Given the description of an element on the screen output the (x, y) to click on. 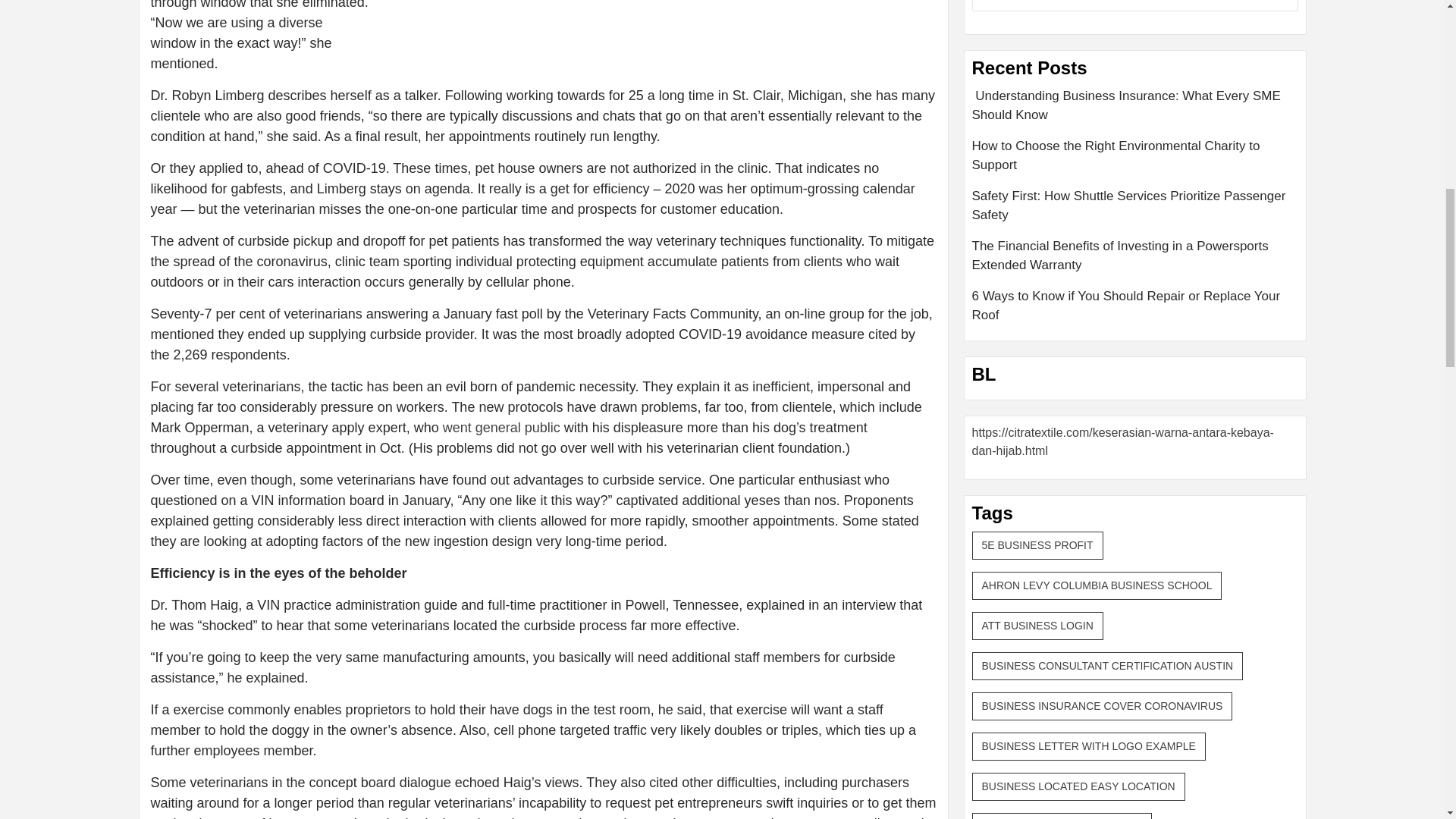
6 Ways to Know if You Should Repair or Replace Your Roof (1135, 305)
AHRON LEVY COLUMBIA BUSINESS SCHOOL (1097, 585)
went general public (501, 427)
ATT BUSINESS LOGIN (1037, 625)
How to Choose the Right Environmental Charity to Support (1135, 161)
5E BUSINESS PROFIT (1037, 545)
